Given the description of an element on the screen output the (x, y) to click on. 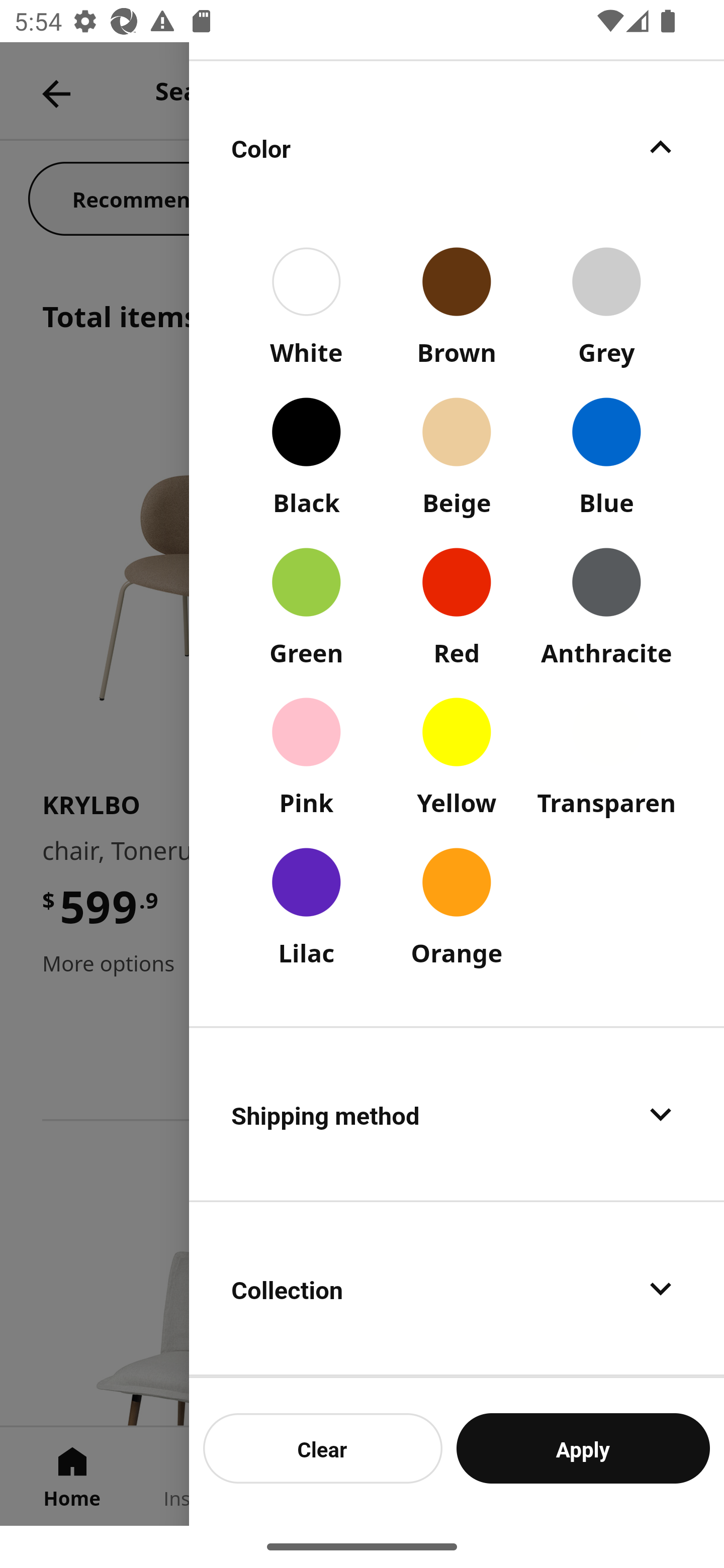
Color (456, 147)
Shipping method (456, 1113)
Collection (456, 1288)
Clear (322, 1447)
Apply (583, 1447)
